Given the description of an element on the screen output the (x, y) to click on. 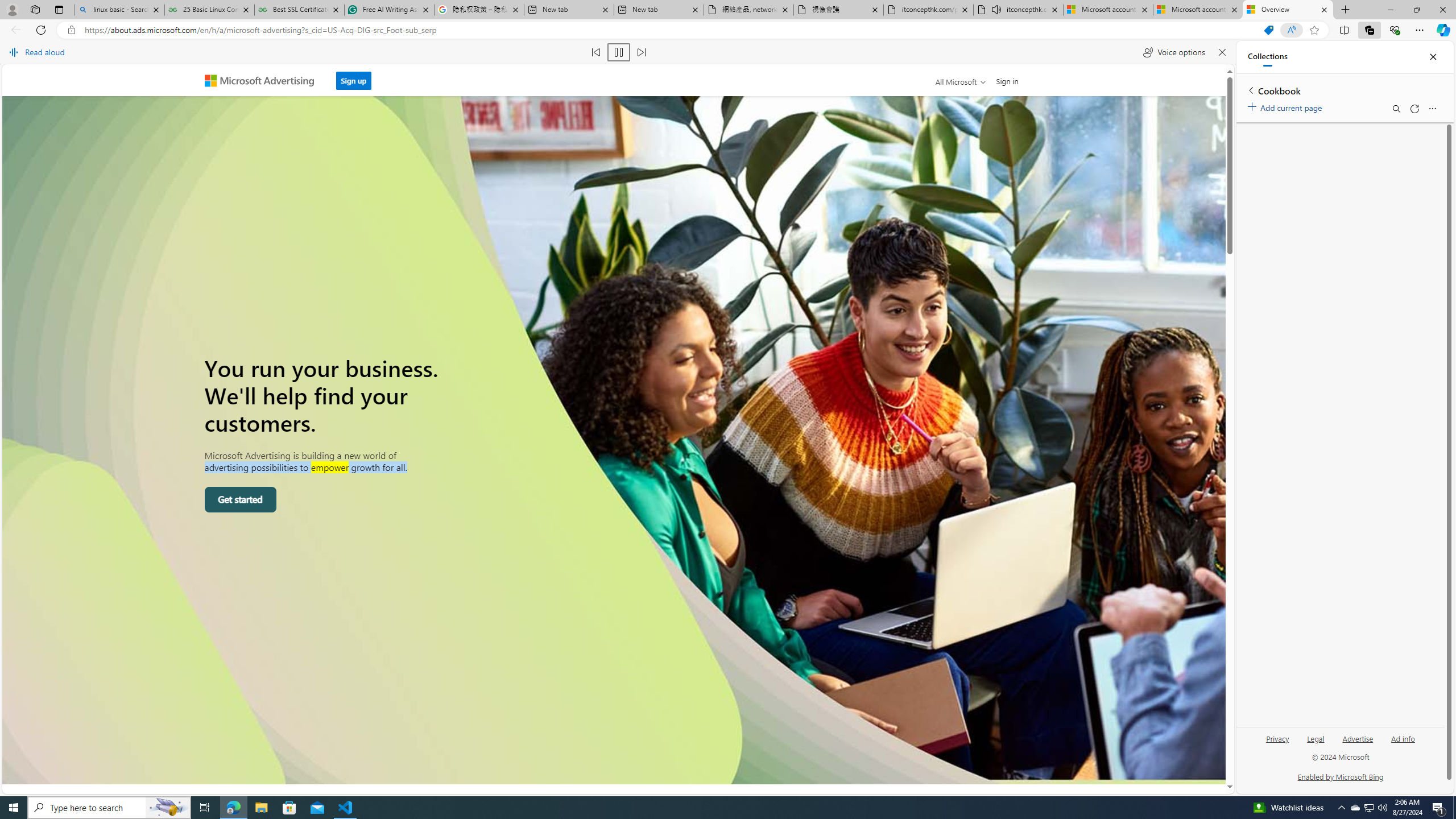
More options menu (1432, 108)
Get started (239, 499)
